Given the description of an element on the screen output the (x, y) to click on. 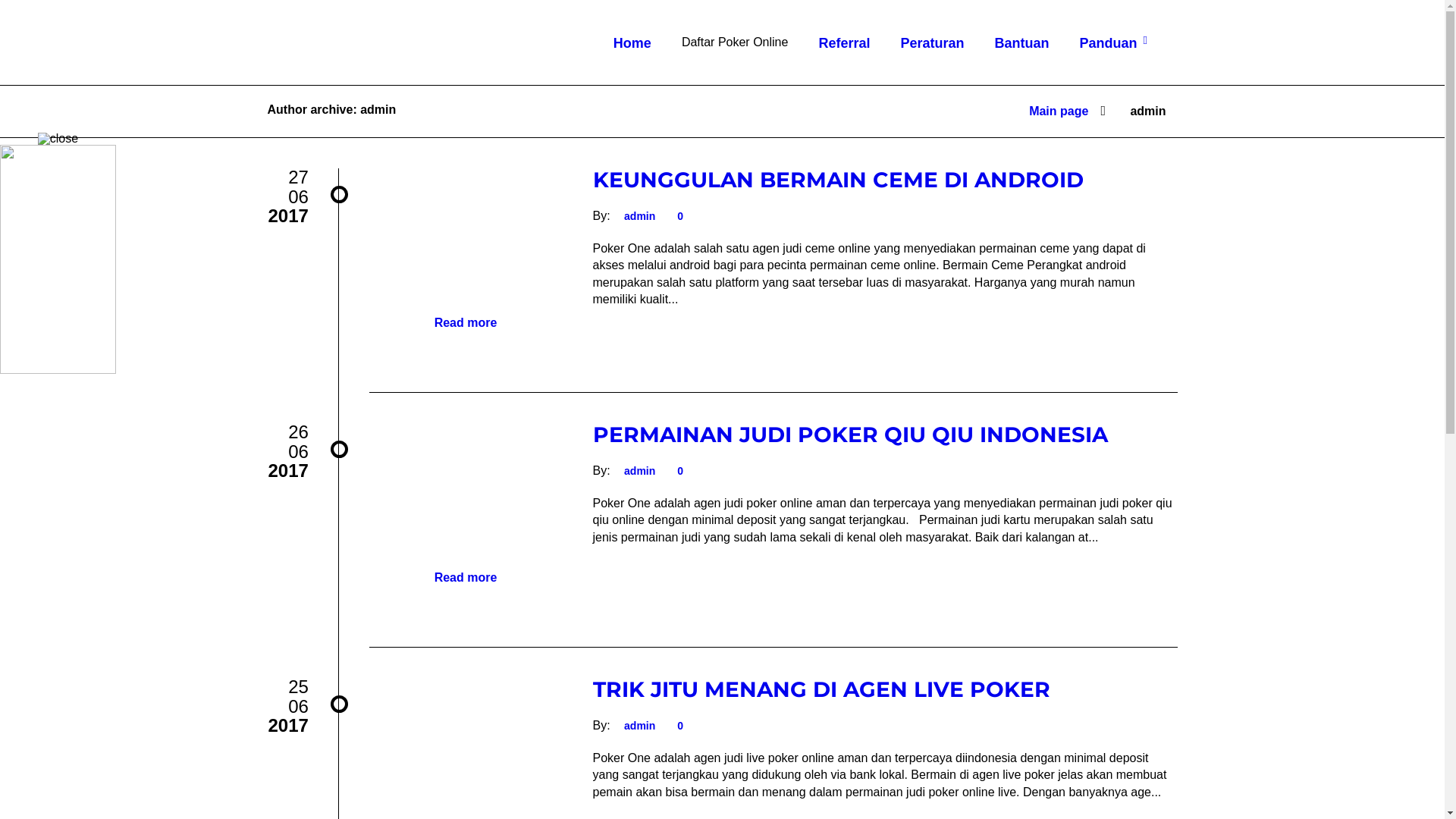
0 Element type: text (677, 470)
Bantuan Element type: text (1021, 60)
PERMAINAN JUDI POKER QIU QIU INDONESIA Element type: text (850, 434)
close button Element type: hover (57, 138)
0 Element type: text (677, 725)
admin Element type: text (639, 470)
TRIK JITU MENANG DI AGEN LIVE POKER Element type: text (821, 689)
Panduan Element type: text (1114, 60)
Main page Element type: text (1058, 107)
0 Element type: text (677, 215)
Home Element type: text (632, 60)
admin Element type: text (639, 725)
KEUNGGULAN BERMAIN CEME DI ANDROID Element type: text (838, 179)
Referral Element type: text (843, 60)
admin Element type: text (639, 215)
Peraturan Element type: text (931, 60)
Read more Element type: text (465, 322)
Read more Element type: text (465, 577)
